Given the description of an element on the screen output the (x, y) to click on. 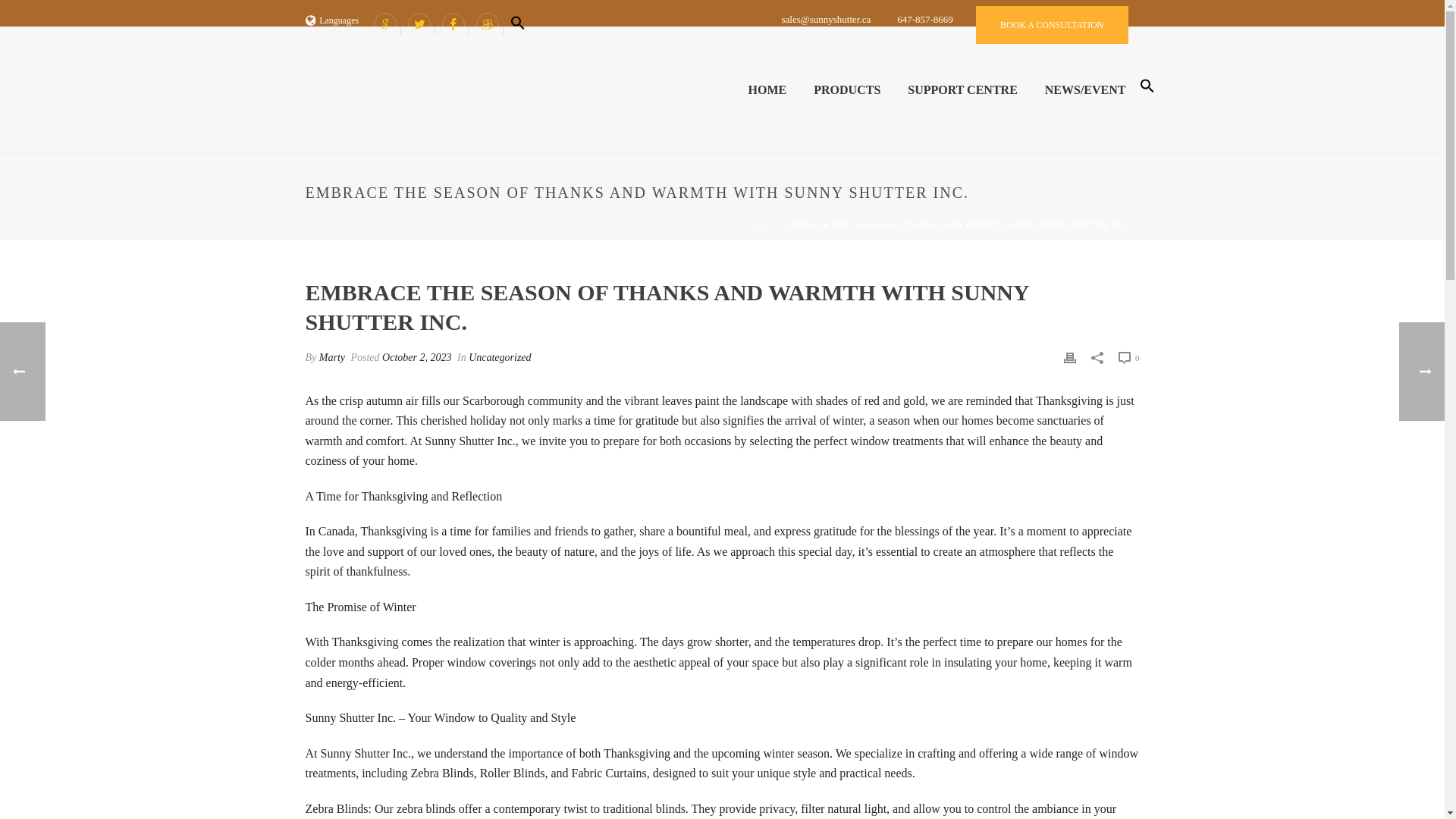
HOME (767, 90)
PRODUCTS (846, 90)
BOOK A CONSULTATION (1051, 24)
PRODUCTS (846, 90)
HOME (767, 90)
SUPPORT CENTRE (961, 90)
Posts by Marty (331, 357)
Languages (331, 20)
647-857-8669 (923, 19)
SUPPORT CENTRE (961, 90)
